Given the description of an element on the screen output the (x, y) to click on. 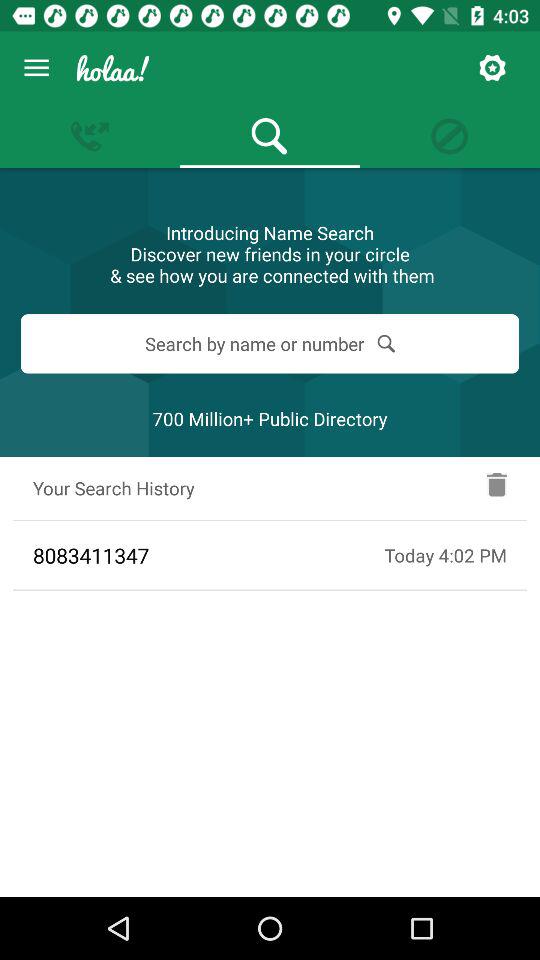
settings (492, 68)
